Given the description of an element on the screen output the (x, y) to click on. 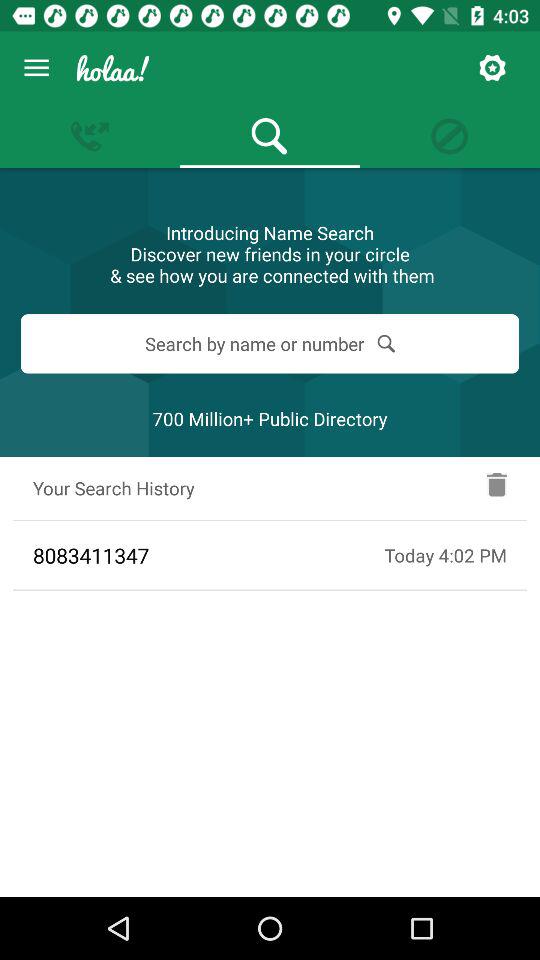
settings (492, 68)
